Given the description of an element on the screen output the (x, y) to click on. 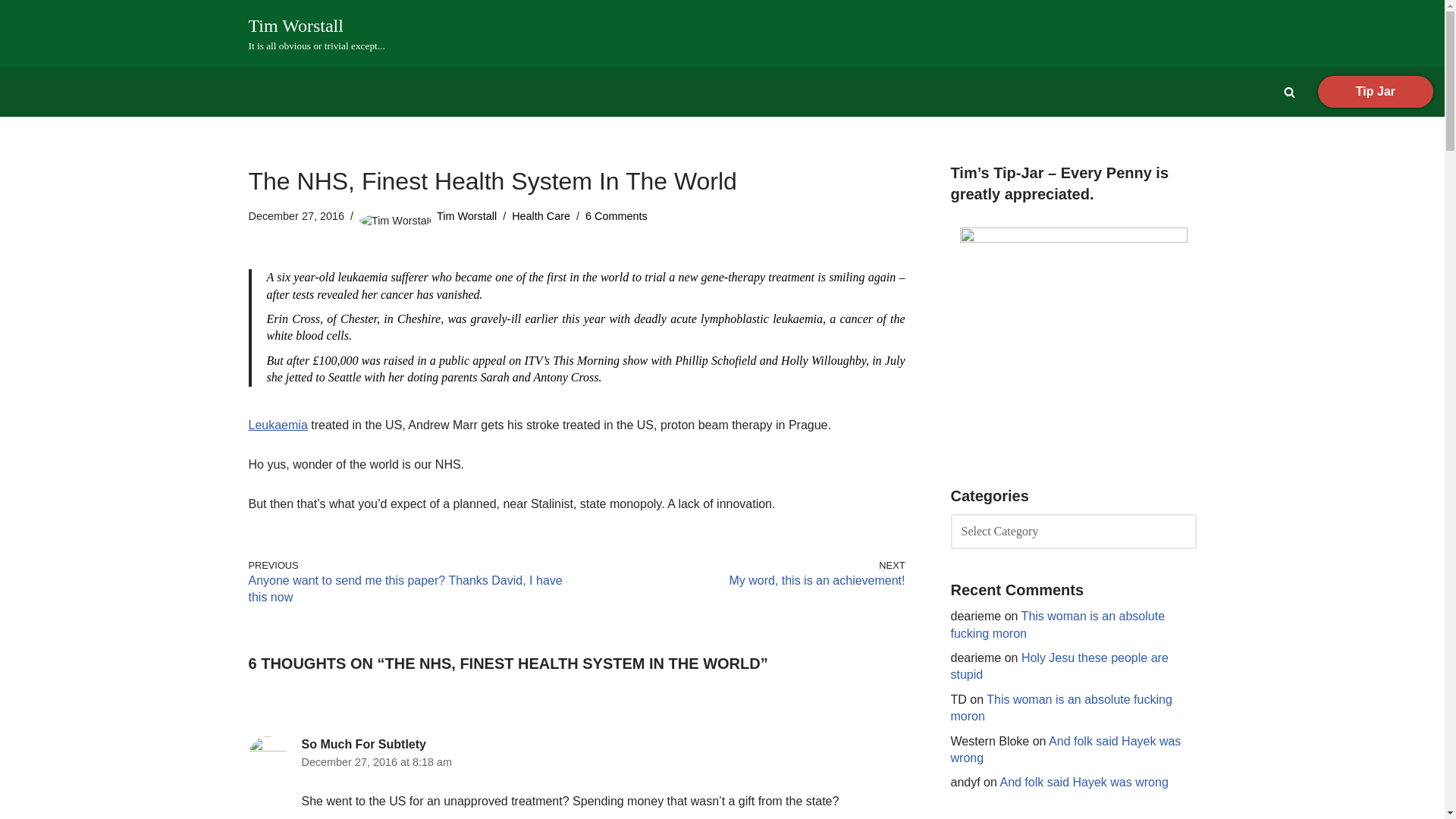
December 27, 2016 at 8:18 am (376, 761)
This woman is an absolute fucking moron (1058, 624)
Skip to content (11, 31)
This woman is an absolute fucking moron (1061, 707)
Holy Jesu these people are stupid (1059, 665)
Health Care (541, 215)
And folk said Hayek was wrong (1082, 781)
And folk said Hayek was wrong (1065, 749)
Tip Jar (1374, 91)
Leukaemia (277, 424)
